Given the description of an element on the screen output the (x, y) to click on. 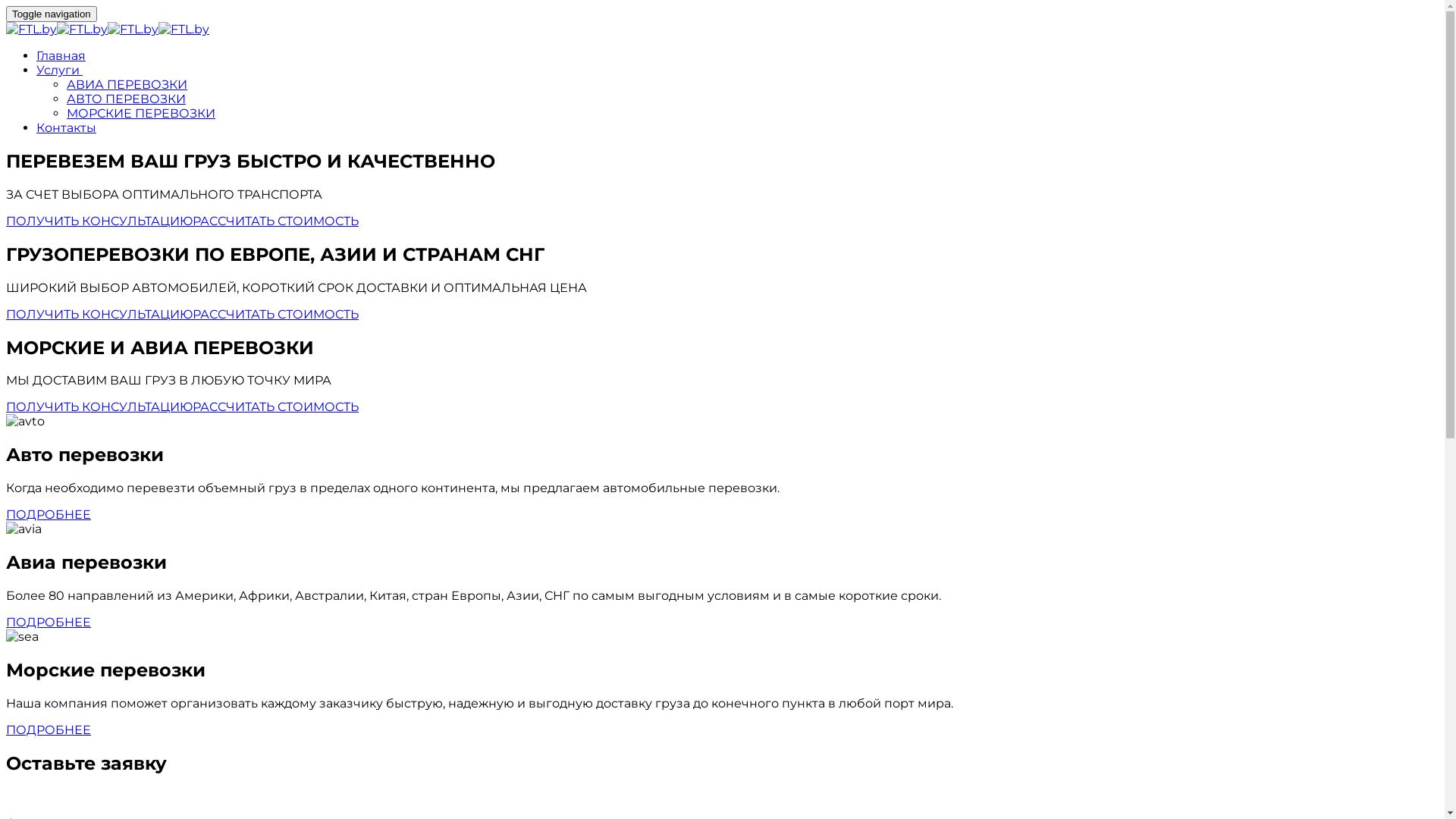
  Element type: text (80, 69)
Toggle navigation Element type: text (51, 13)
